Given the description of an element on the screen output the (x, y) to click on. 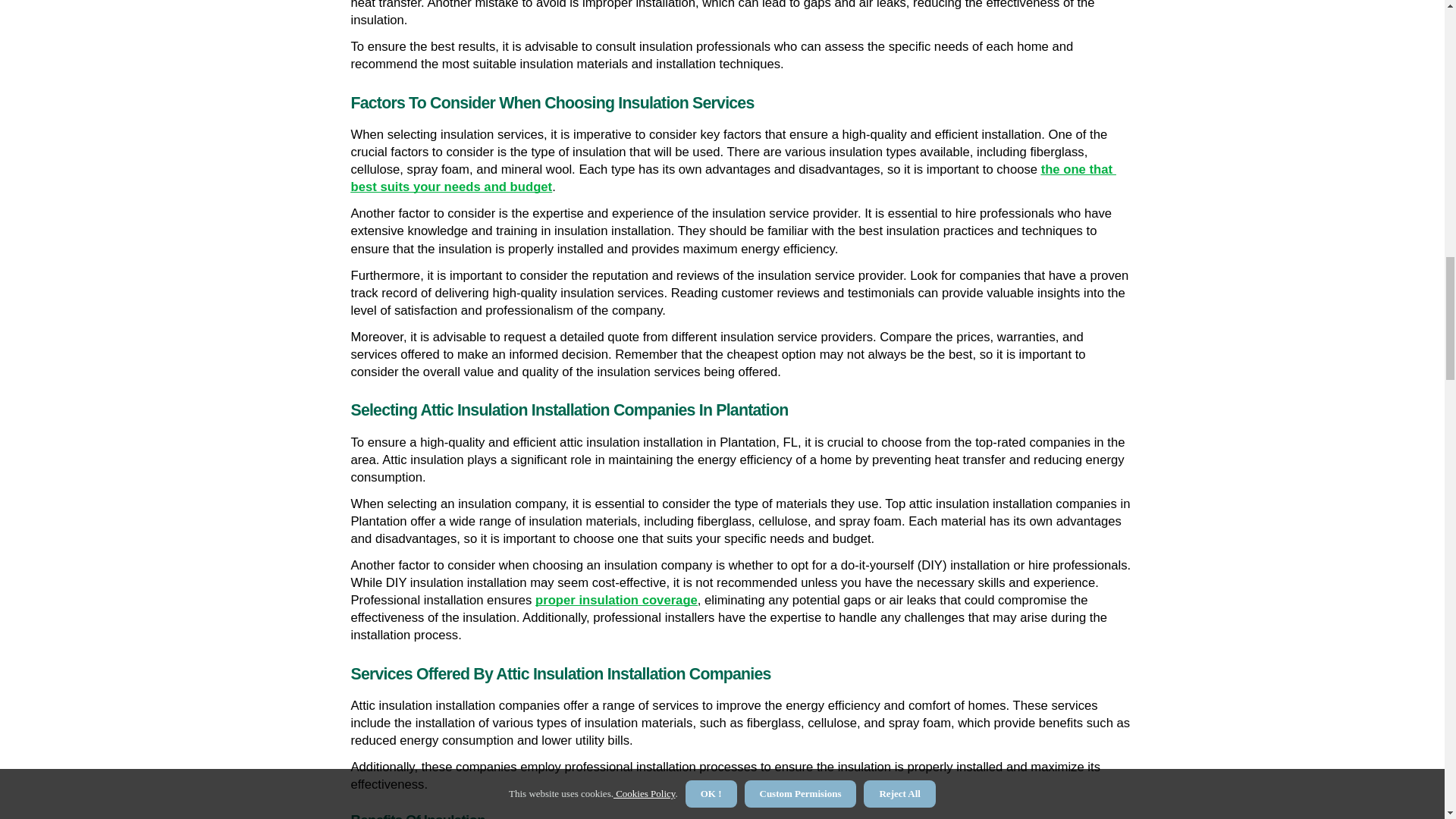
proper insulation coverage (616, 599)
the one that best suits your needs and budget (732, 177)
